Given the description of an element on the screen output the (x, y) to click on. 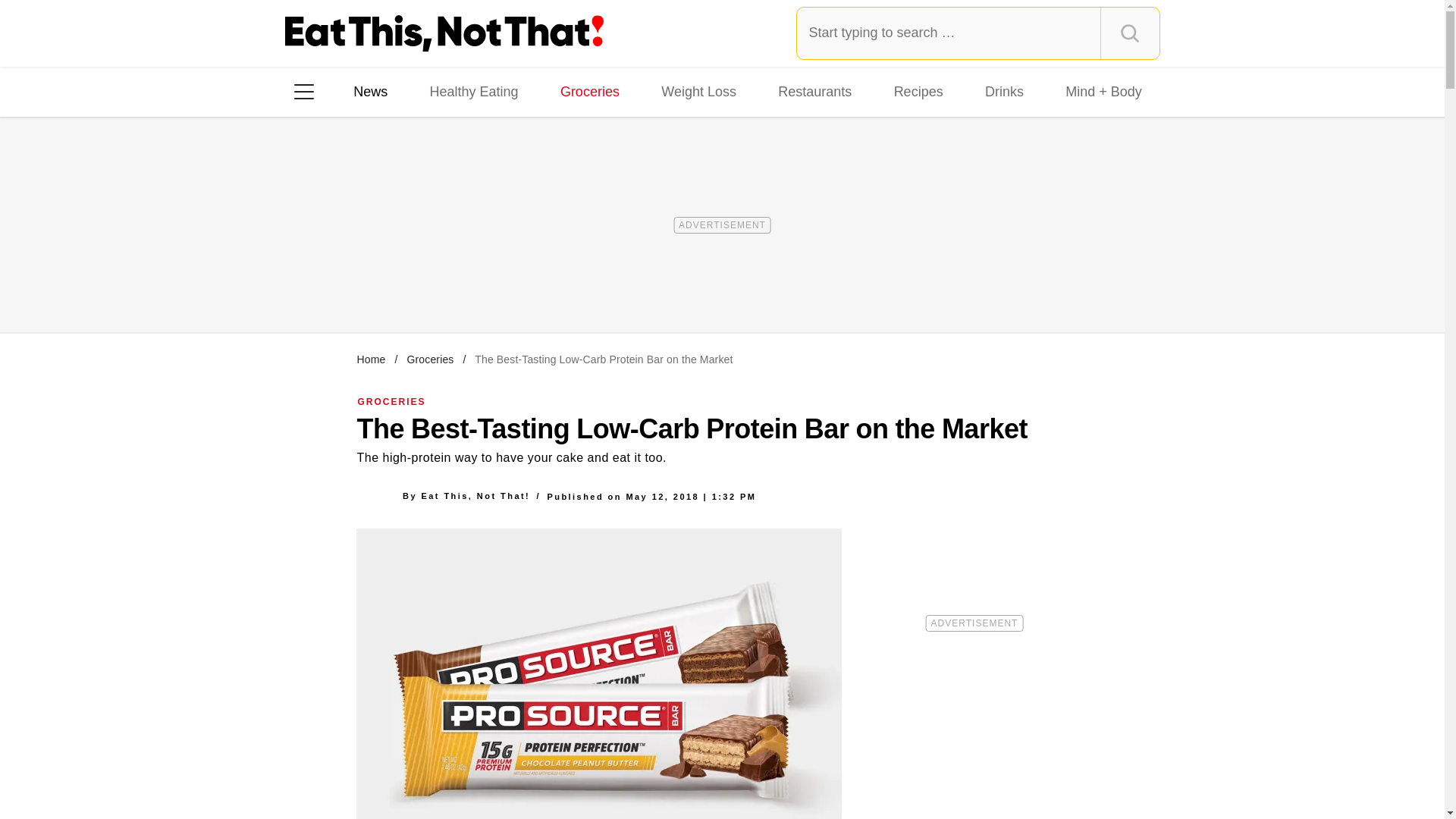
Instagram (357, 287)
Pinterest (443, 287)
Healthy Eating (473, 91)
Groceries (590, 91)
TikTok (399, 287)
Eat This Not That Homepage (444, 33)
Type and press Enter to search (978, 32)
Home (370, 358)
Facebook (314, 287)
Instagram (357, 287)
Facebook (314, 287)
GROCERIES (392, 401)
Drinks (1003, 91)
Eat This, Not That! (474, 495)
Pinterest (443, 287)
